Given the description of an element on the screen output the (x, y) to click on. 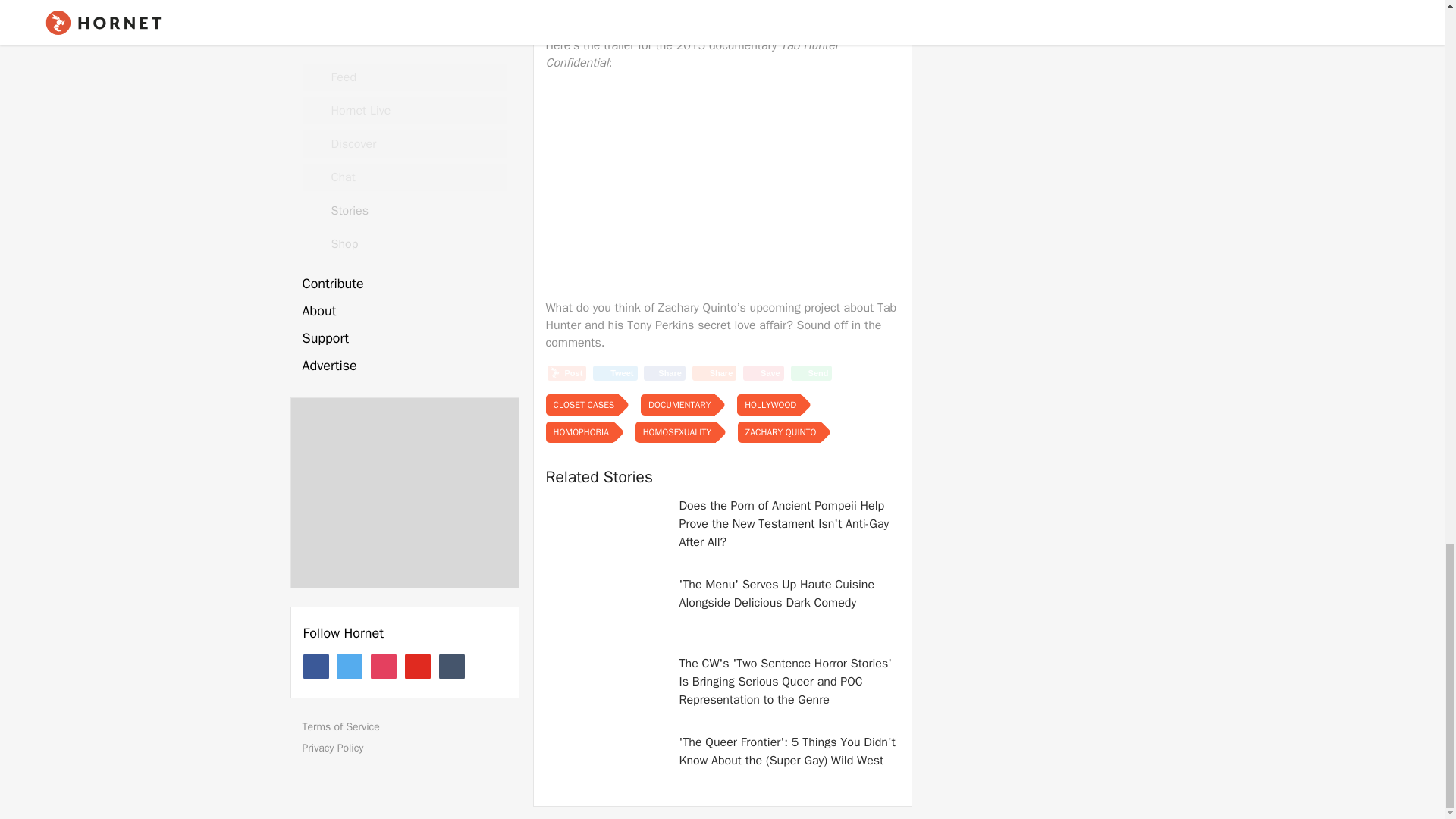
Share (714, 372)
Send (811, 372)
Post (566, 372)
Save (763, 372)
Tweet (614, 372)
Share (664, 372)
